Given the description of an element on the screen output the (x, y) to click on. 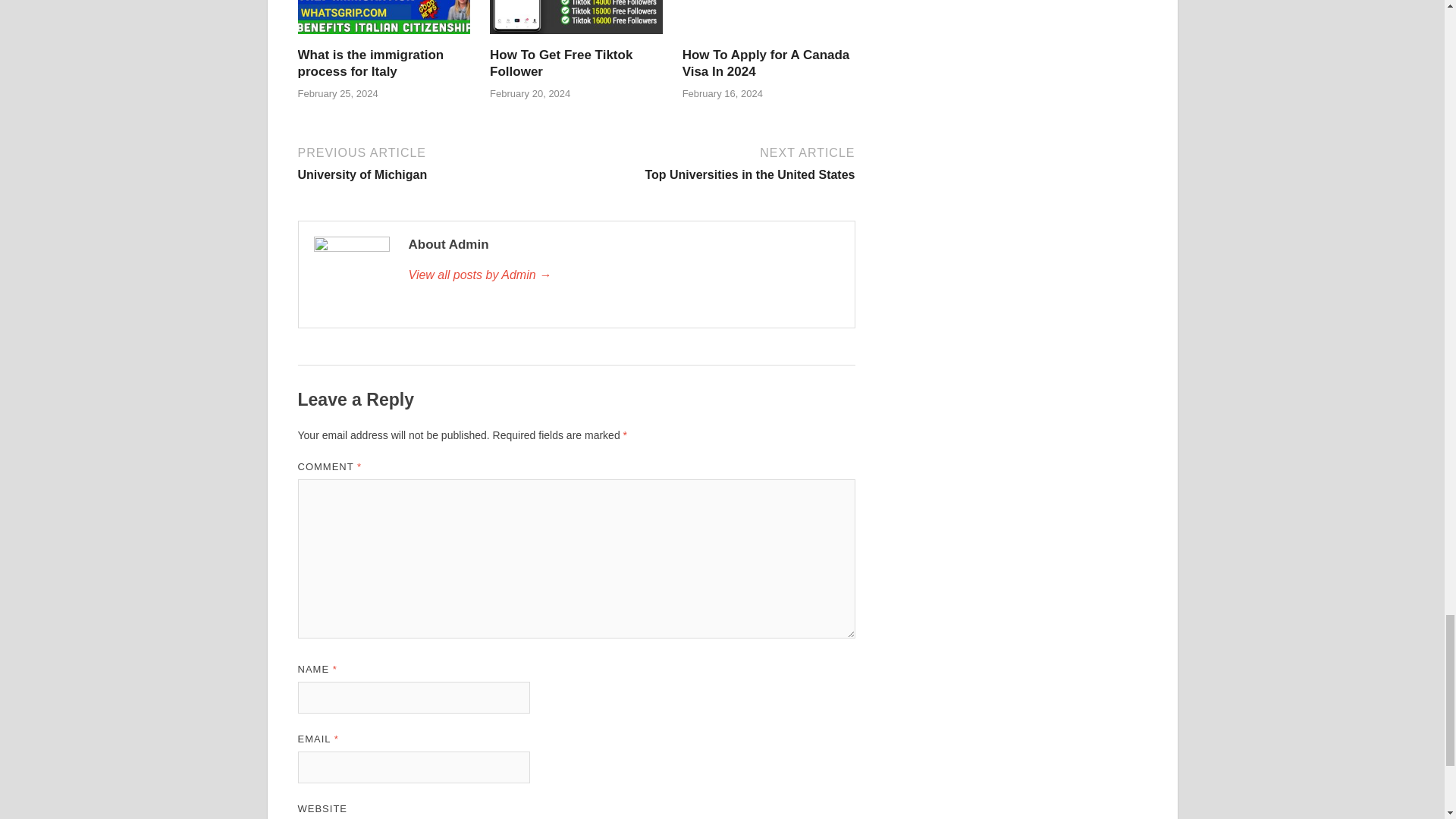
How To Get Free Tiktok Follower  (717, 162)
How To Apply for A Canada Visa In 2024 (560, 62)
Admin (766, 62)
What is the immigration process for Italy (622, 275)
What is the immigration process for Italy (370, 62)
How To Apply for A Canada Visa In 2024 (370, 62)
